Given the description of an element on the screen output the (x, y) to click on. 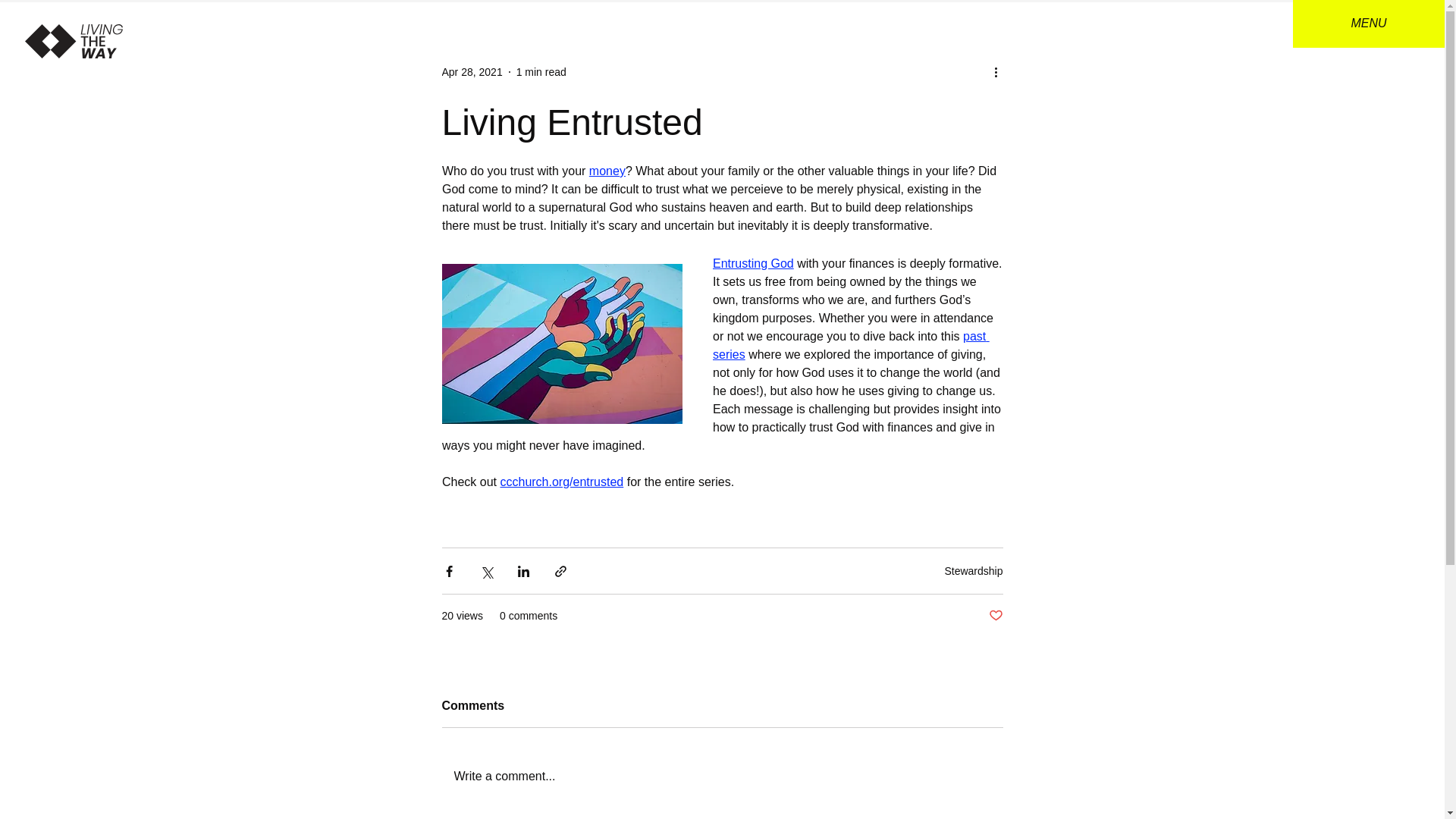
past series (851, 345)
Stewardship (973, 570)
Entrusting God (753, 263)
Write a comment... (722, 776)
money (606, 170)
1 min read (541, 70)
Apr 28, 2021 (471, 70)
Post not marked as liked (995, 616)
